Given the description of an element on the screen output the (x, y) to click on. 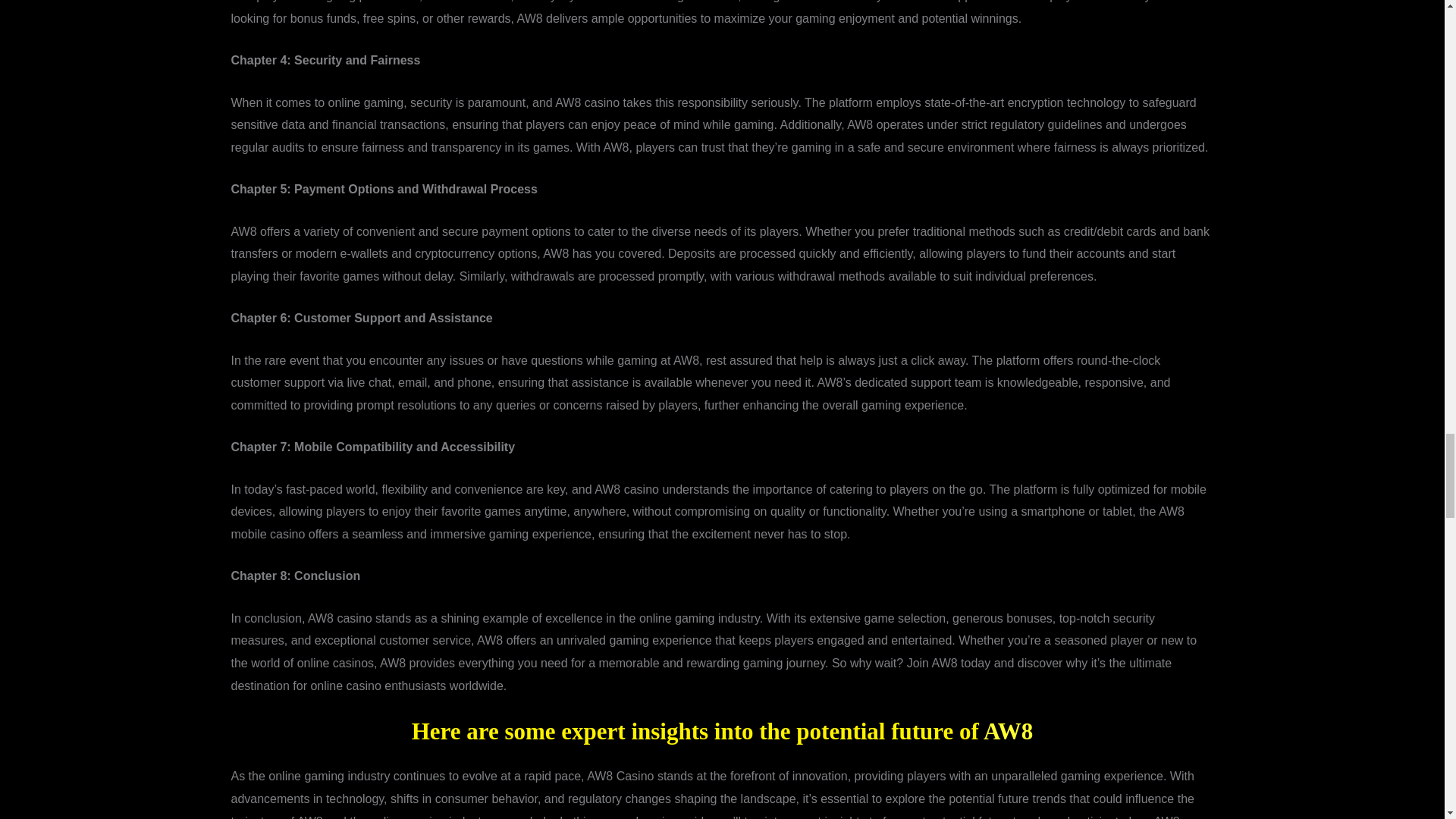
AW8 (1008, 731)
